Given the description of an element on the screen output the (x, y) to click on. 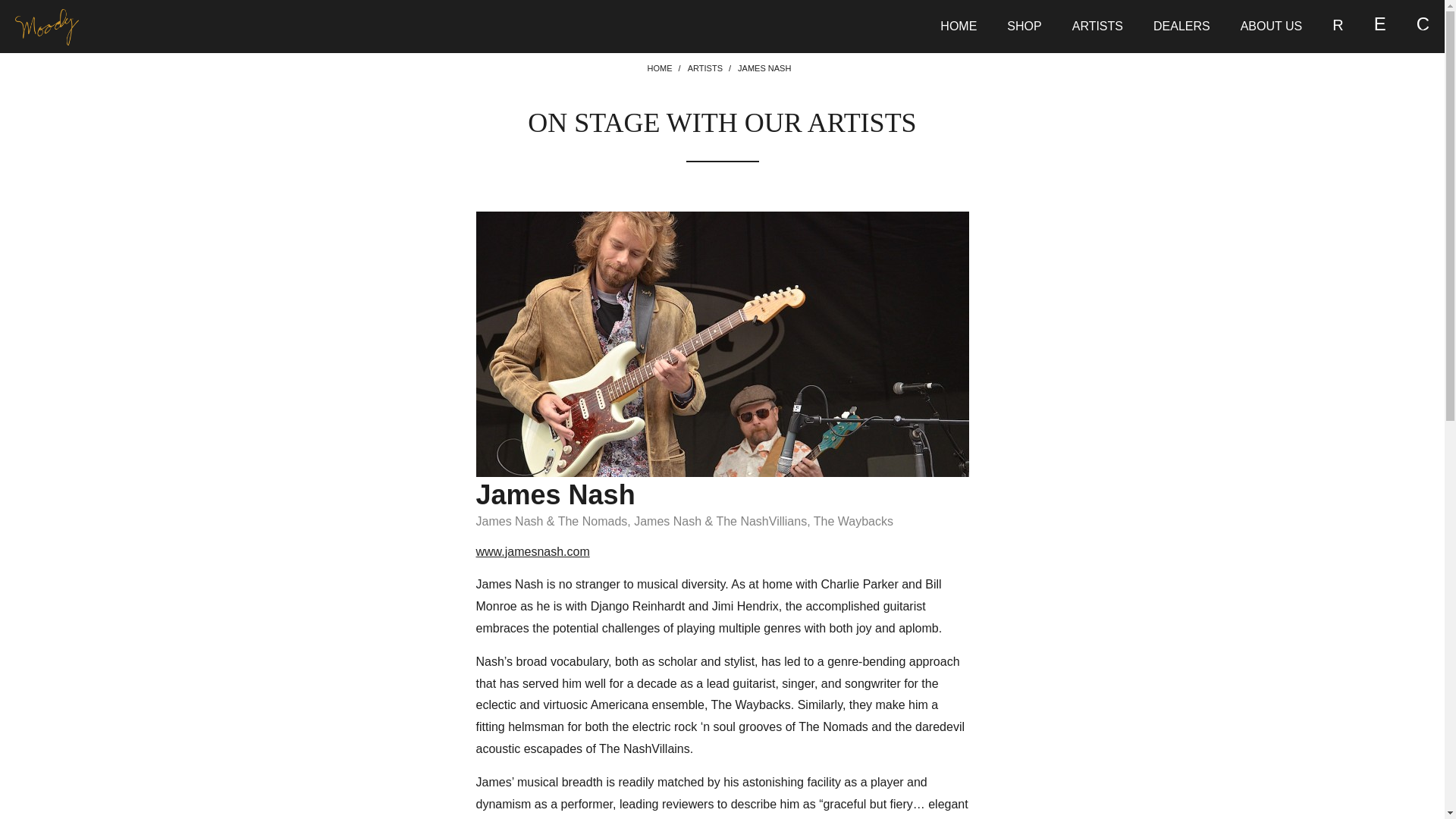
Home (659, 68)
James Nash (722, 343)
HOME (957, 26)
Log In (1328, 243)
Moody (46, 27)
www.jamesnash.com (532, 552)
ABOUT US (1271, 26)
Artists (704, 68)
ARTISTS (704, 68)
HOME (659, 68)
